Given the description of an element on the screen output the (x, y) to click on. 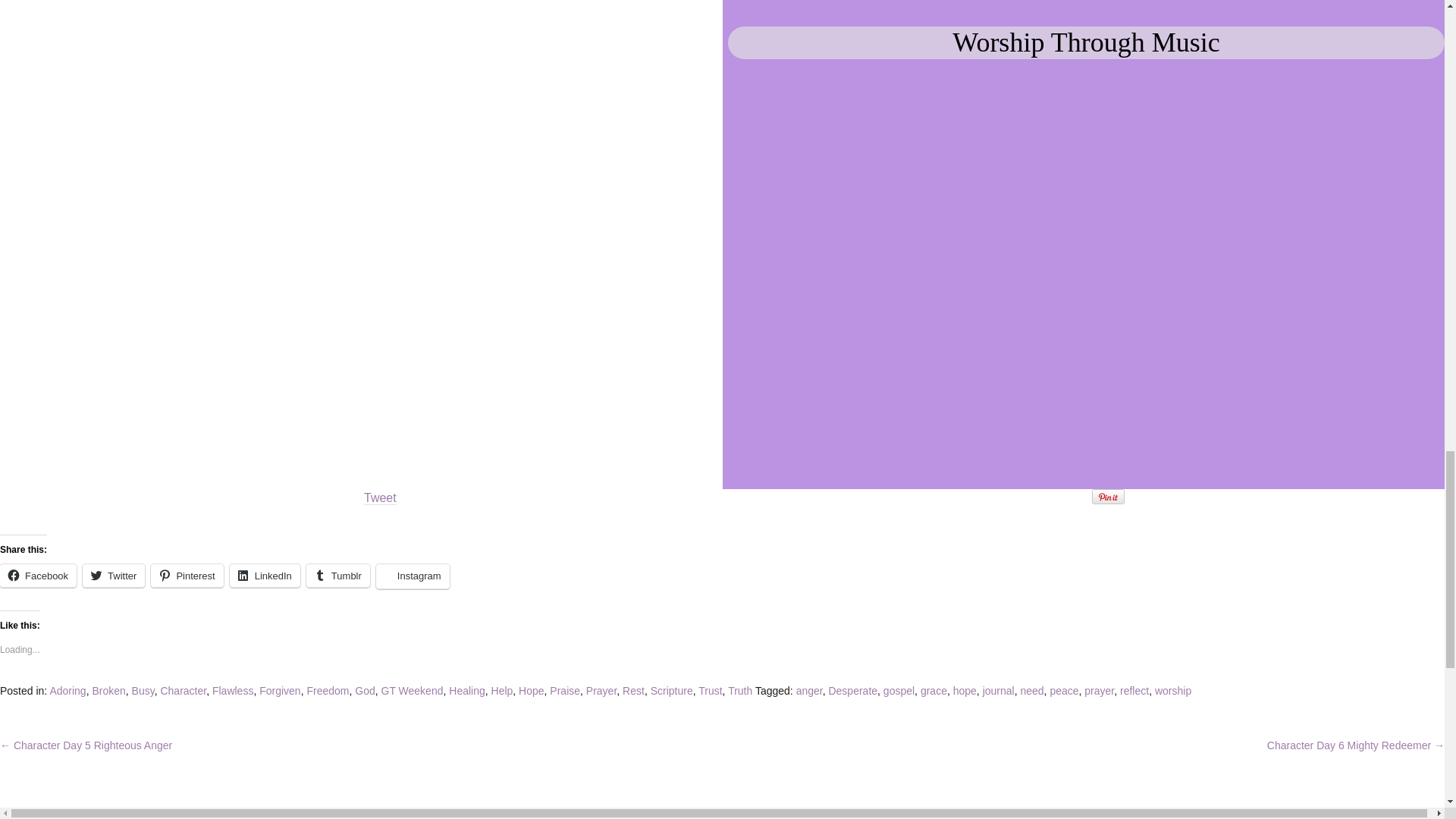
Facebook (38, 576)
Click to share on Instagram (412, 576)
Tweet (380, 498)
Click to share on Tumblr (337, 576)
Click to share on Pinterest (186, 576)
Click to share on LinkedIn (264, 576)
Pin It (1108, 496)
Click to share on Facebook (38, 576)
Click to share on Twitter (113, 576)
Twitter (113, 576)
